Given the description of an element on the screen output the (x, y) to click on. 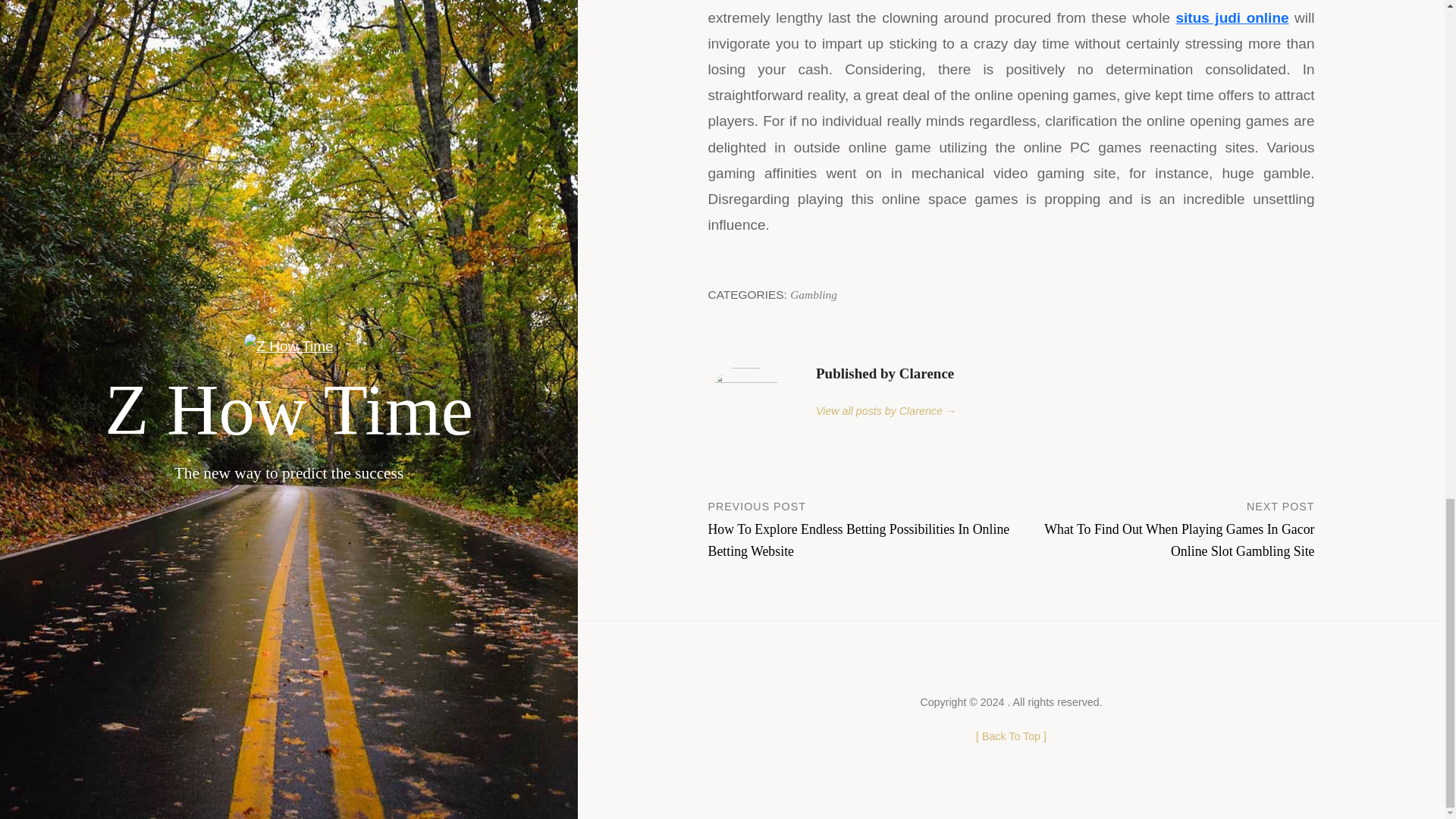
situs judi online (1231, 17)
Gambling (813, 294)
Back To Top (1010, 736)
